Given the description of an element on the screen output the (x, y) to click on. 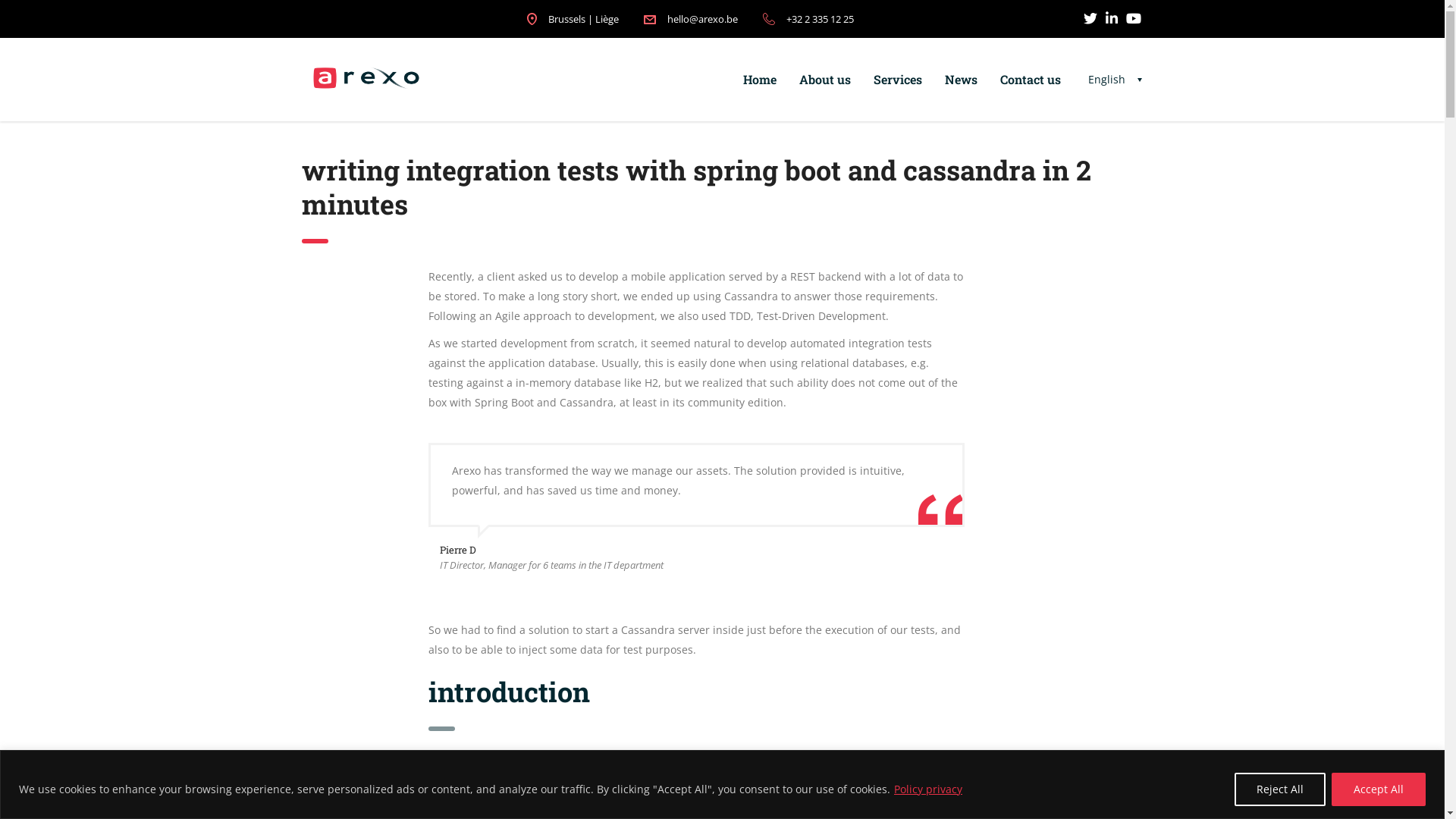
About us Element type: text (824, 79)
English Element type: text (1115, 79)
Services Element type: text (896, 79)
Policy privacy Element type: text (928, 789)
Accept All Element type: text (1378, 788)
Reject All Element type: text (1279, 788)
News Element type: text (960, 79)
Home Element type: text (759, 79)
Contact us Element type: text (1030, 79)
